Given the description of an element on the screen output the (x, y) to click on. 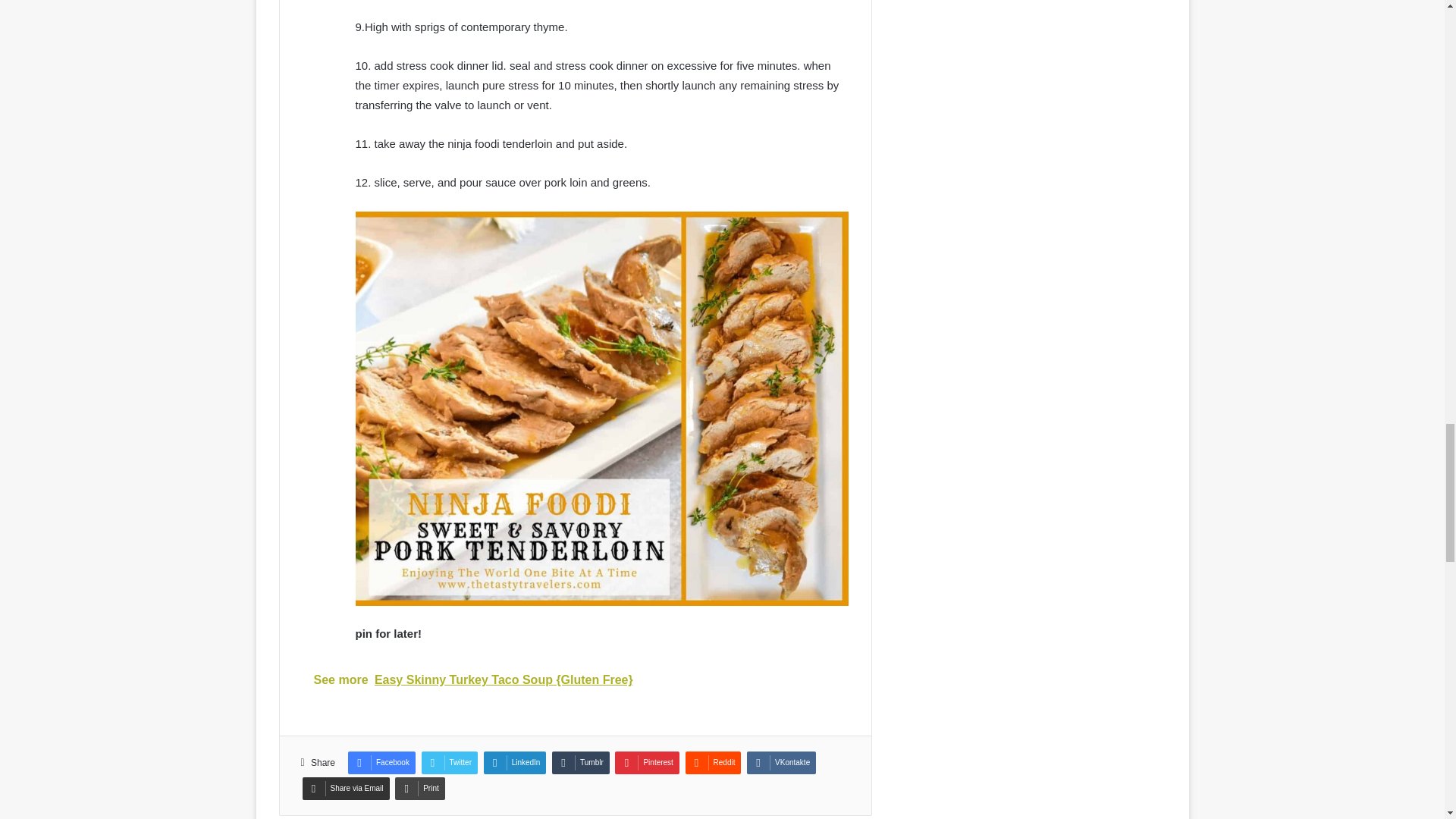
Facebook (380, 762)
Twitter (449, 762)
